Given the description of an element on the screen output the (x, y) to click on. 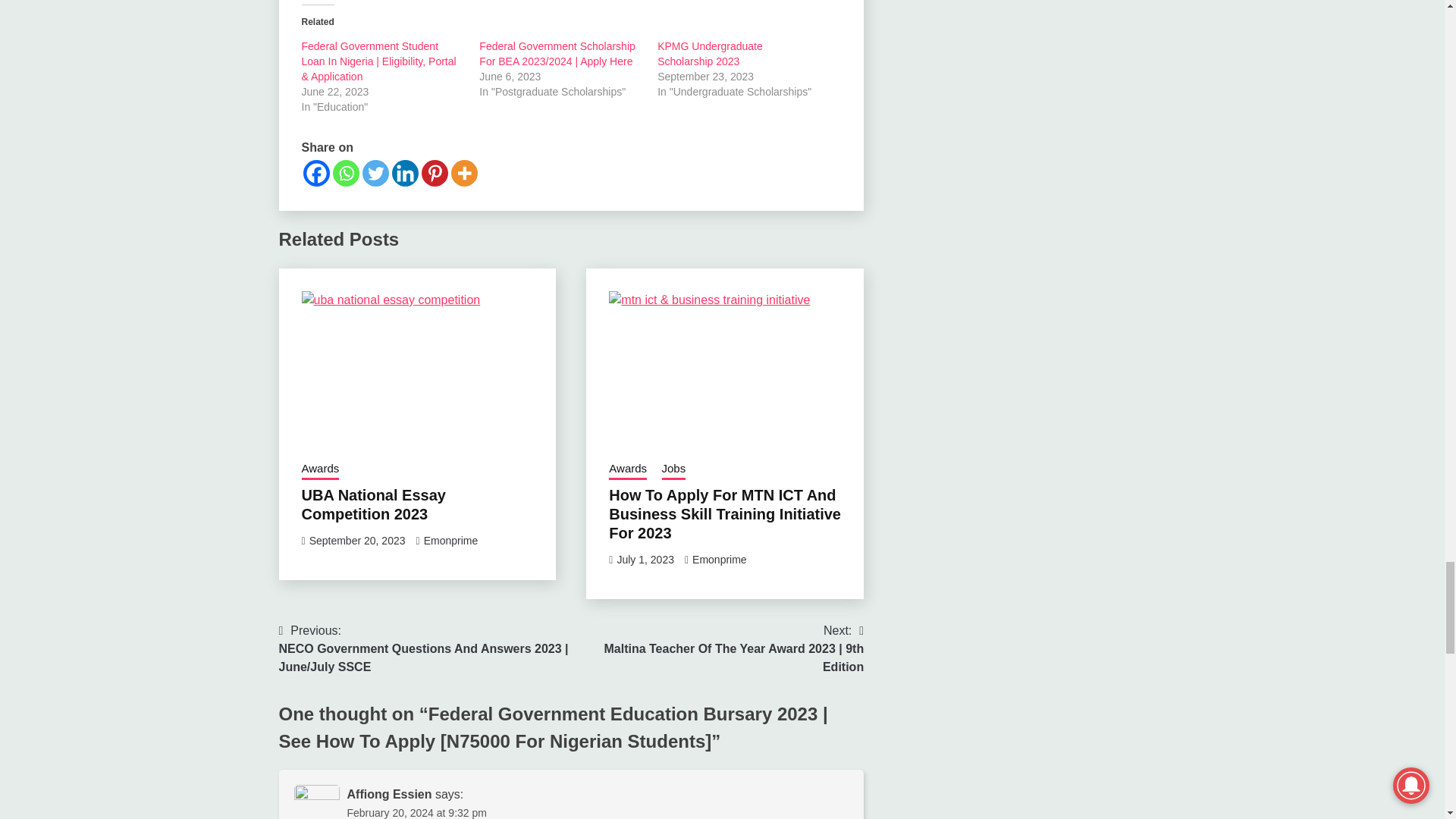
Twitter (375, 172)
Pinterest (435, 172)
More (463, 172)
Whatsapp (344, 172)
KPMG Undergraduate Scholarship 2023 (710, 53)
Linkedin (404, 172)
Facebook (316, 172)
